Given the description of an element on the screen output the (x, y) to click on. 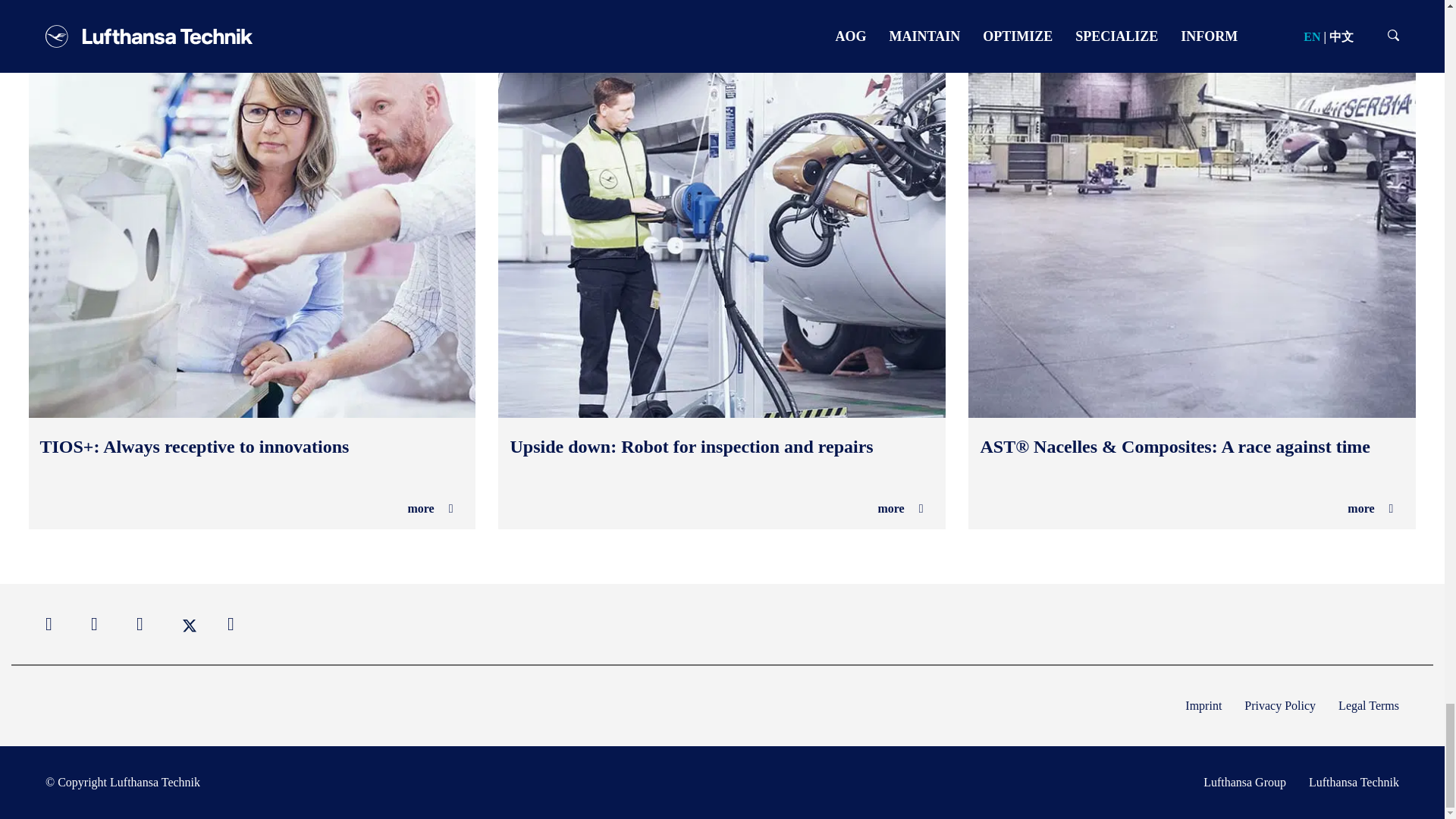
Legal Terms (1368, 705)
more (429, 507)
Lufthansa Group (1244, 782)
Imprint (1203, 705)
Lufthansa Technik (1353, 782)
more (1370, 507)
Privacy Policy (1280, 705)
more (900, 507)
